Given the description of an element on the screen output the (x, y) to click on. 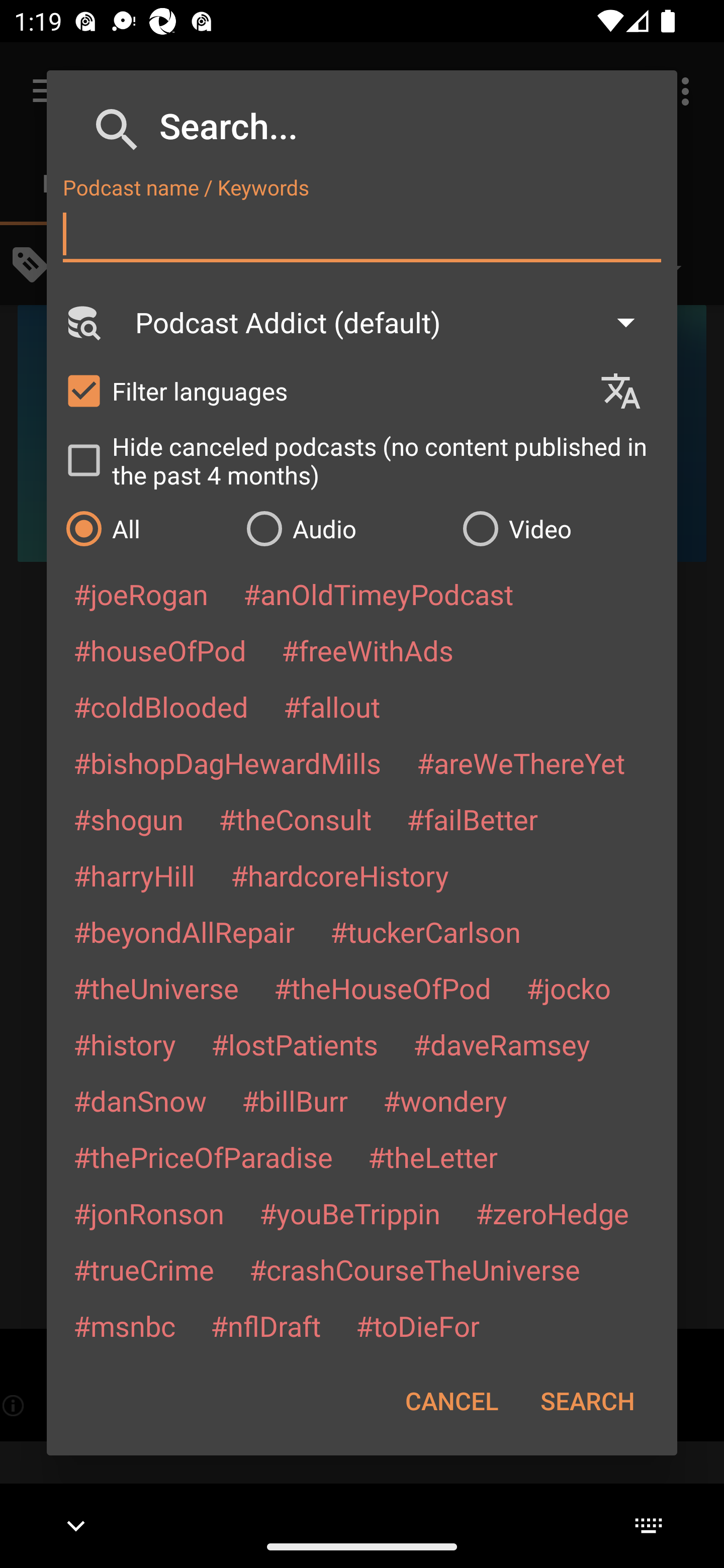
Podcast name / Keywords (361, 234)
Search Engine (82, 322)
Podcast Addict (default) (394, 322)
Languages selection (629, 390)
Filter languages (322, 390)
All (145, 528)
Audio (344, 528)
Video (560, 528)
#joeRogan (140, 594)
#anOldTimeyPodcast (378, 594)
#houseOfPod (159, 650)
#freeWithAds (367, 650)
#coldBlooded (160, 705)
#fallout (331, 705)
#bishopDagHewardMills (227, 762)
#areWeThereYet (521, 762)
#shogun (128, 818)
#theConsult (294, 818)
#failBetter (471, 818)
#harryHill (134, 875)
#hardcoreHistory (339, 875)
#beyondAllRepair (184, 931)
#tuckerCarlson (425, 931)
#theUniverse (155, 987)
#theHouseOfPod (381, 987)
#jocko (568, 987)
#history (124, 1044)
#lostPatients (294, 1044)
#daveRamsey (501, 1044)
#danSnow (139, 1100)
#billBurr (294, 1100)
#wondery (444, 1100)
#thePriceOfParadise (203, 1157)
#theLetter (432, 1157)
#jonRonson (148, 1213)
#youBeTrippin (349, 1213)
#zeroHedge (552, 1213)
#trueCrime (143, 1268)
#crashCourseTheUniverse (414, 1268)
#msnbc (124, 1325)
#nflDraft (265, 1325)
#toDieFor (417, 1325)
CANCEL (451, 1400)
SEARCH (587, 1400)
